Given the description of an element on the screen output the (x, y) to click on. 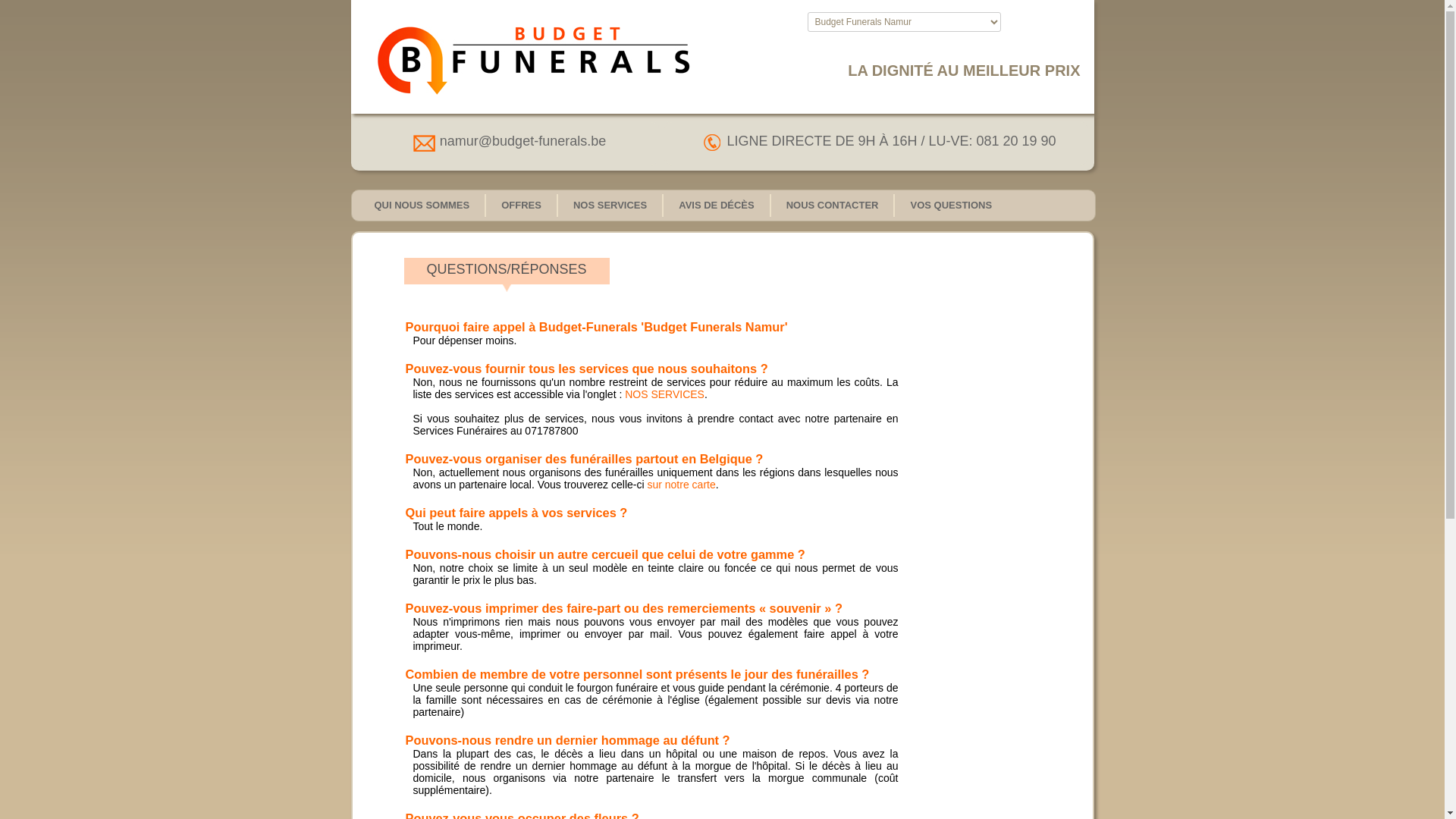
NOUS CONTACTER Element type: text (832, 202)
Budget Funerals Namur Element type: hover (519, 60)
QUI NOUS SOMMES Element type: text (422, 202)
NOS SERVICES Element type: text (664, 394)
NOS SERVICES Element type: text (609, 202)
OFFRES Element type: text (521, 202)
sur notre carte Element type: text (680, 484)
Pouvez-vous fournir tous les services que nous souhaitons ? Element type: text (585, 368)
VOS QUESTIONS Element type: text (950, 202)
